Given the description of an element on the screen output the (x, y) to click on. 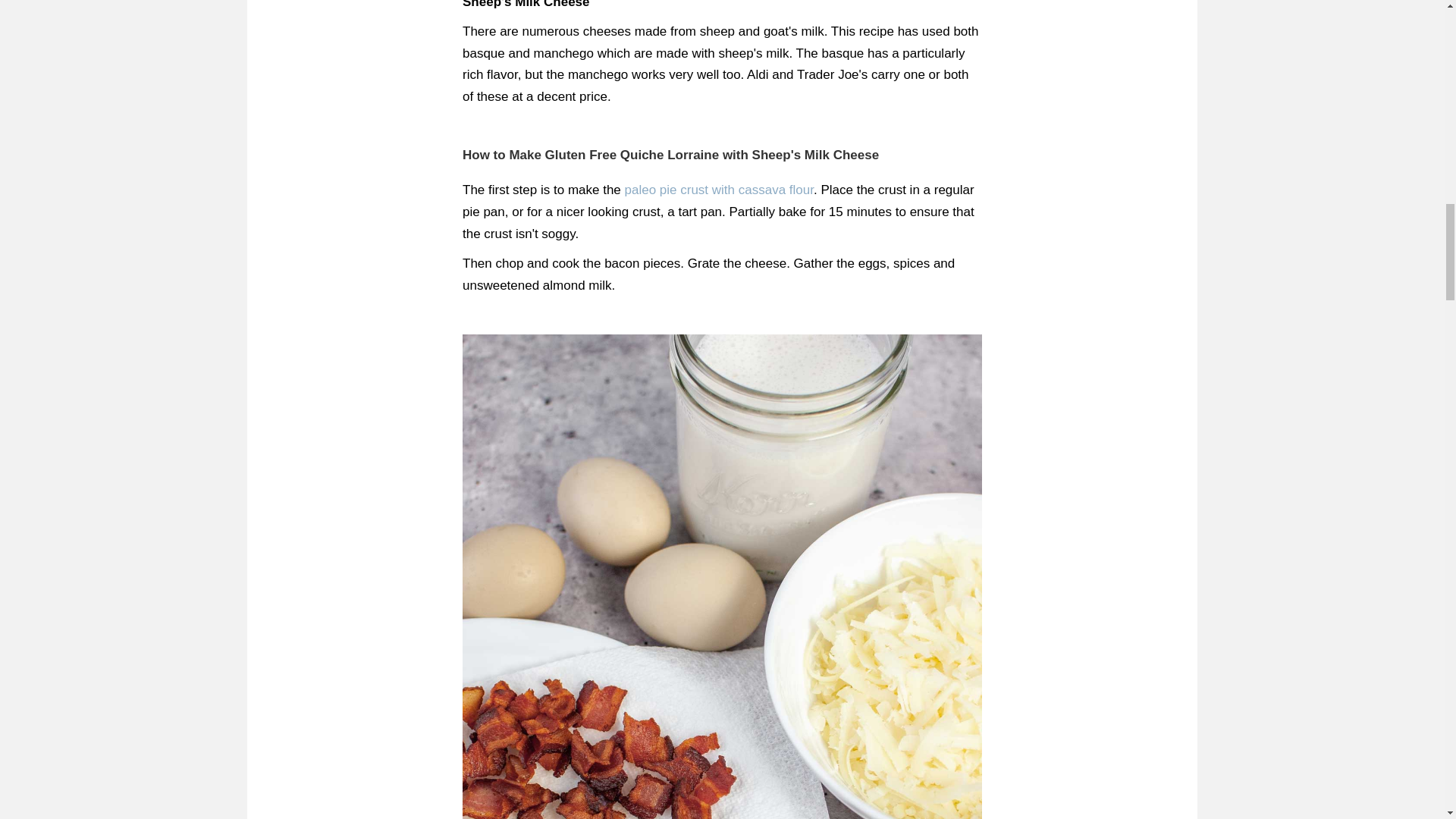
paleo pie crust with cassava flour (718, 189)
